Given the description of an element on the screen output the (x, y) to click on. 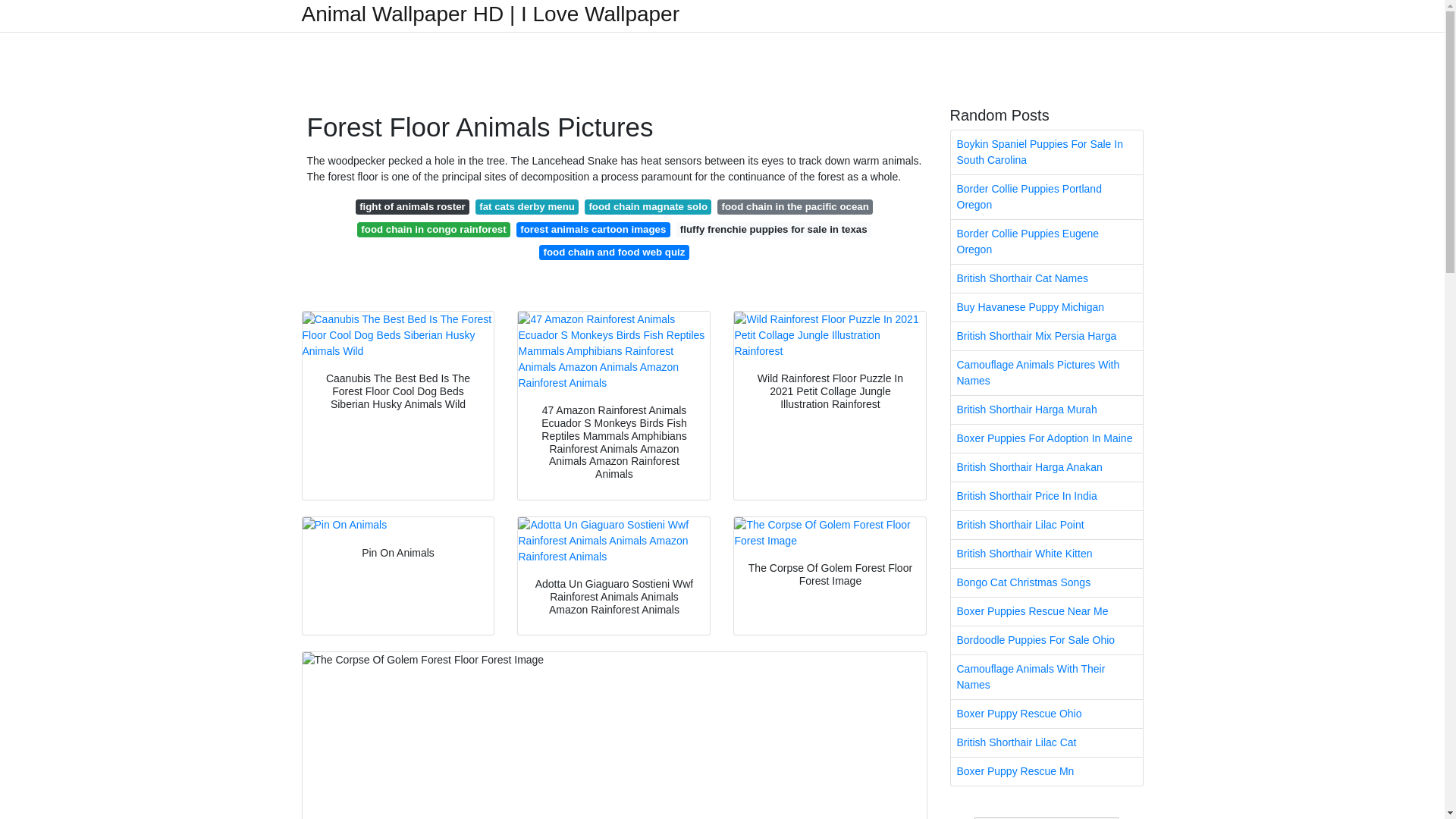
forest animals cartoon images (592, 229)
food chain and food web quiz (613, 252)
Boykin Spaniel Puppies For Sale In South Carolina (1046, 152)
fight of animals roster (411, 206)
Buy Havanese Puppy Michigan (1046, 307)
food chain in congo rainforest (433, 229)
fat cats derby menu (527, 206)
Border Collie Puppies Portland Oregon (1046, 197)
Camouflage Animals Pictures With Names (1046, 372)
British Shorthair Harga Anakan (1046, 467)
